Given the description of an element on the screen output the (x, y) to click on. 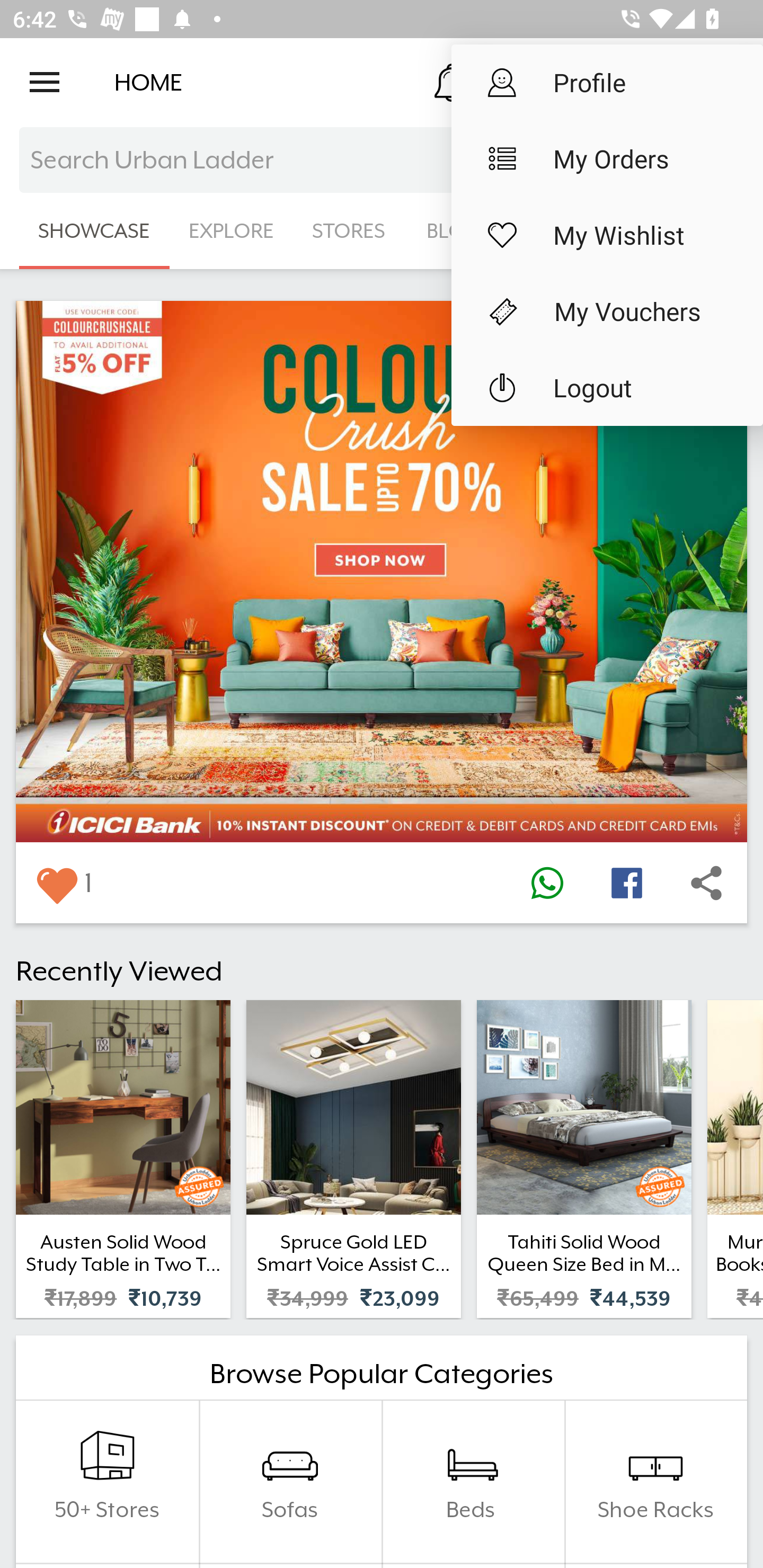
Profile (607, 81)
My Orders (607, 158)
My Wishlist (607, 234)
My Vouchers (607, 310)
Logout (607, 387)
